Given the description of an element on the screen output the (x, y) to click on. 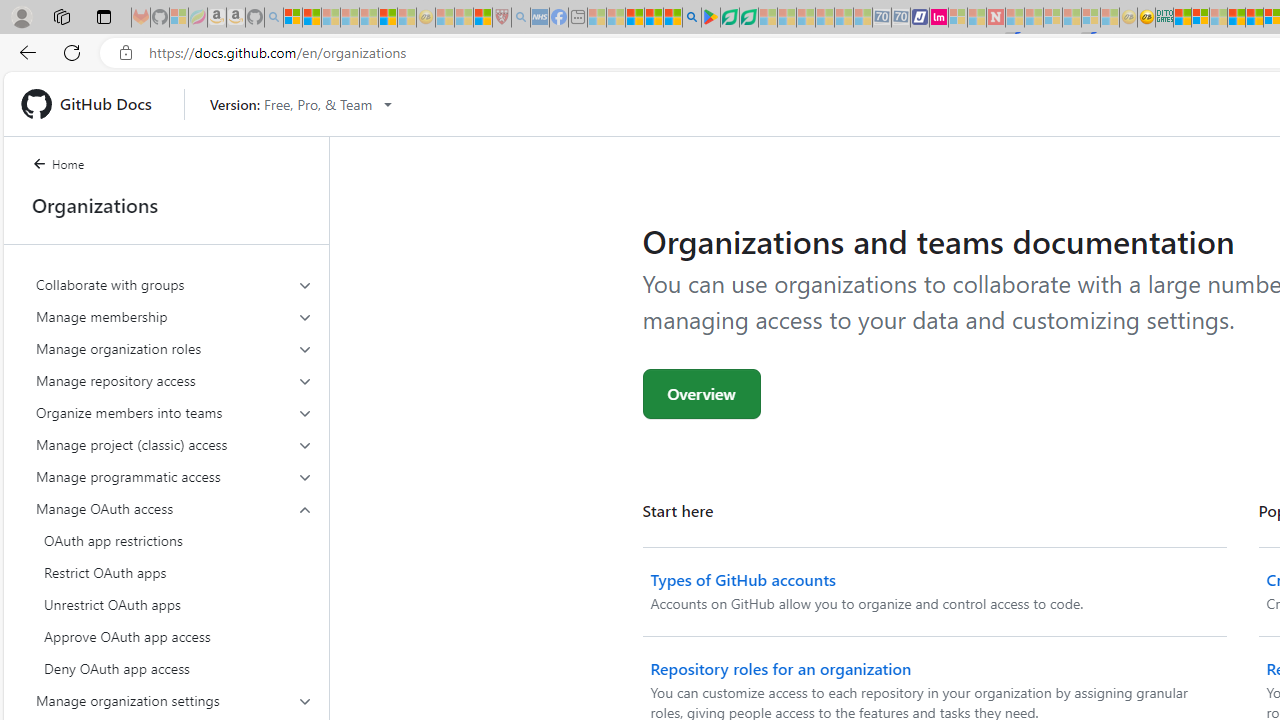
Organizations (166, 205)
